Given the description of an element on the screen output the (x, y) to click on. 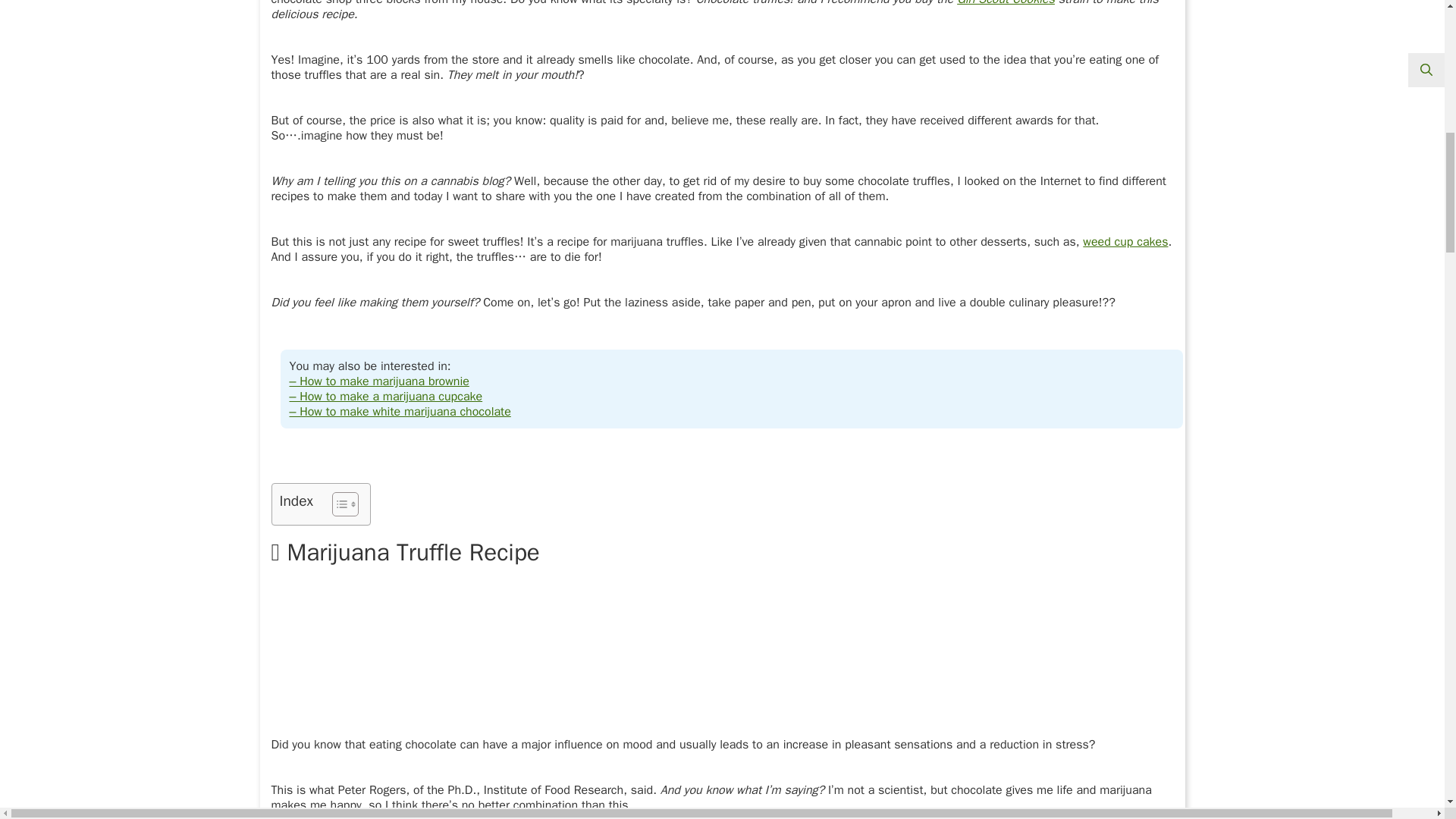
weed cup cakes (1125, 241)
Girl Scout Cookies (1005, 3)
